Given the description of an element on the screen output the (x, y) to click on. 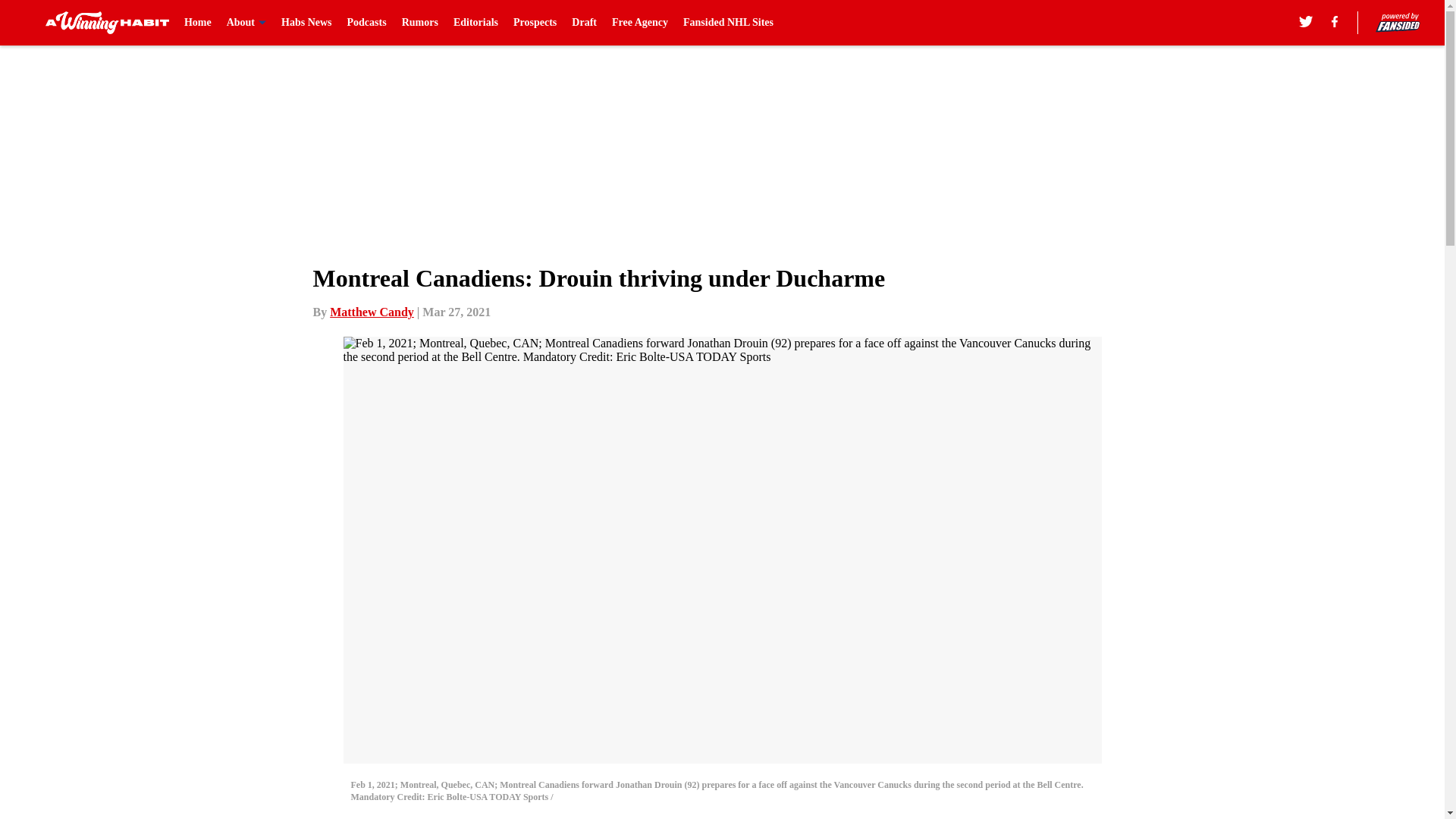
Matthew Candy (371, 311)
Prospects (534, 22)
Rumors (419, 22)
Fansided NHL Sites (727, 22)
Podcasts (367, 22)
Editorials (474, 22)
Free Agency (639, 22)
Home (197, 22)
Habs News (306, 22)
Draft (584, 22)
